Given the description of an element on the screen output the (x, y) to click on. 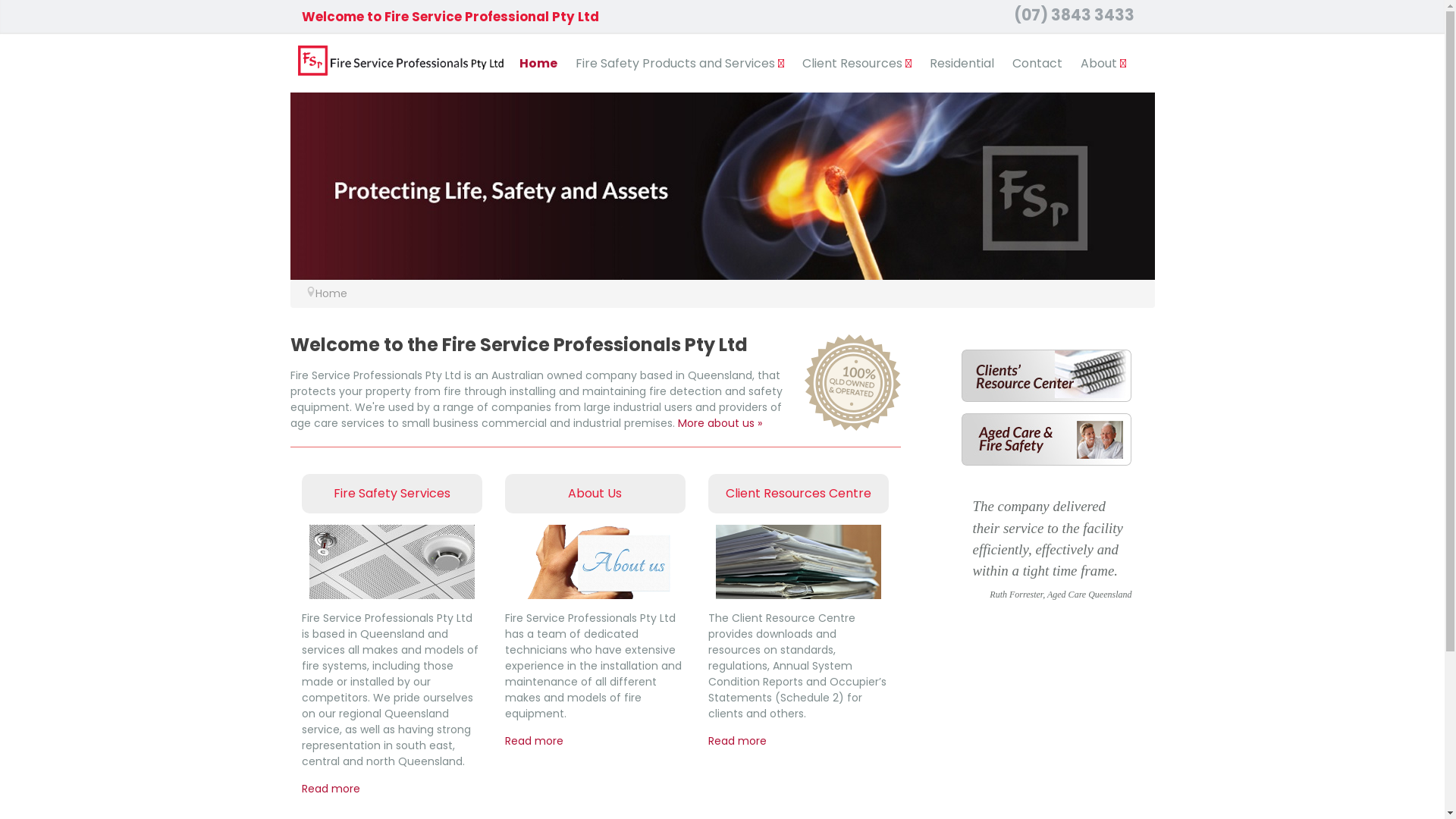
Clients' Resource Centre Element type: hover (1046, 374)
Read more Element type: text (330, 788)
Contact Element type: text (1036, 63)
About Element type: text (1102, 63)
Client Resources Element type: text (856, 63)
Aged Care and Fire Safety Element type: hover (1046, 438)
Residential Element type: text (961, 63)
Home Element type: text (537, 63)
Read more Element type: text (534, 740)
Fire Safety Products and Services Element type: text (678, 63)
Read more Element type: text (737, 740)
